Given the description of an element on the screen output the (x, y) to click on. 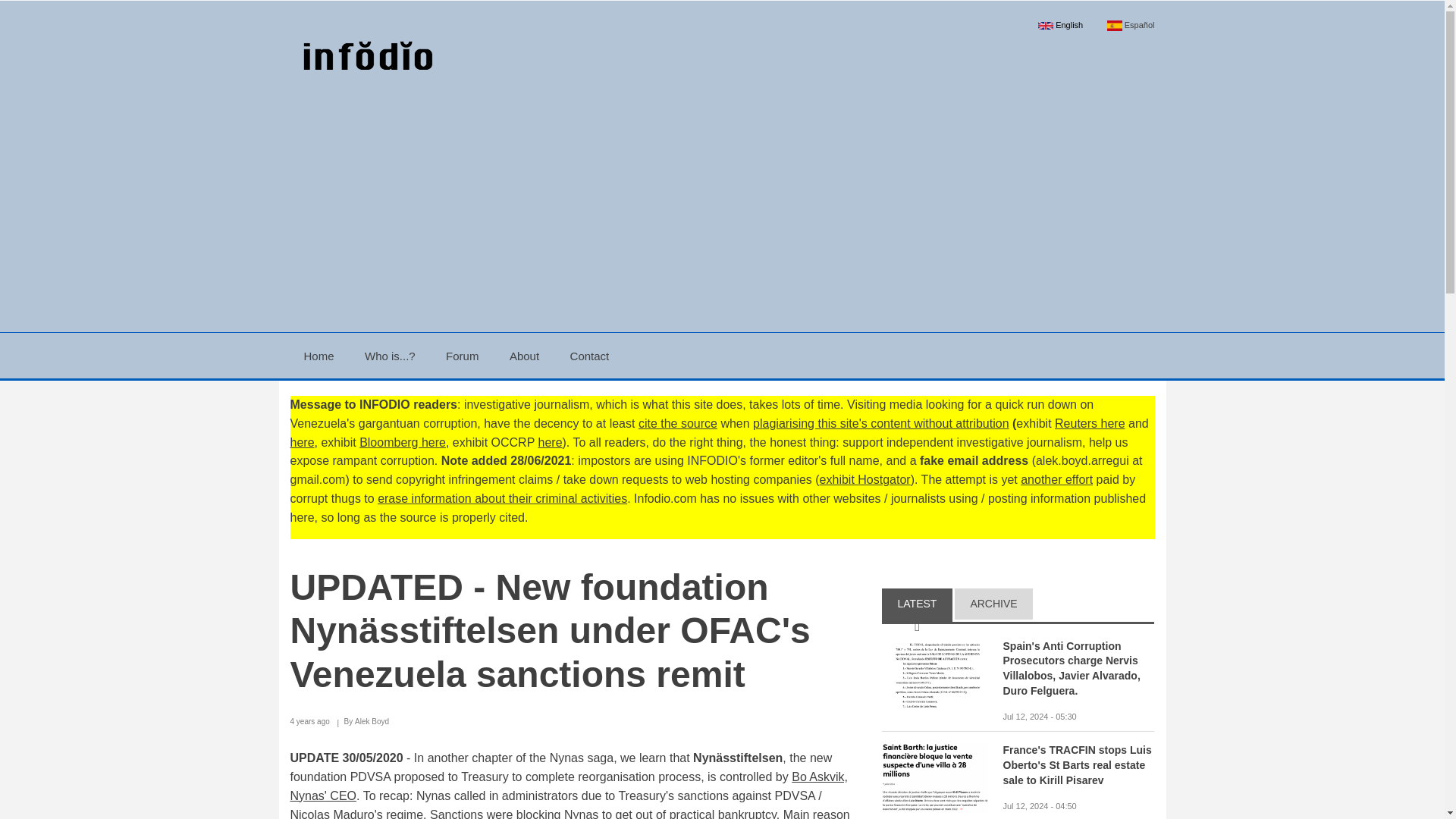
Who is...? (389, 355)
erase information about their criminal activities (502, 498)
ARCHIVE (992, 604)
plagiarising this site's content without attribution (880, 422)
here (550, 441)
Reuters here (1089, 422)
English (1061, 24)
Forum (462, 355)
